Given the description of an element on the screen output the (x, y) to click on. 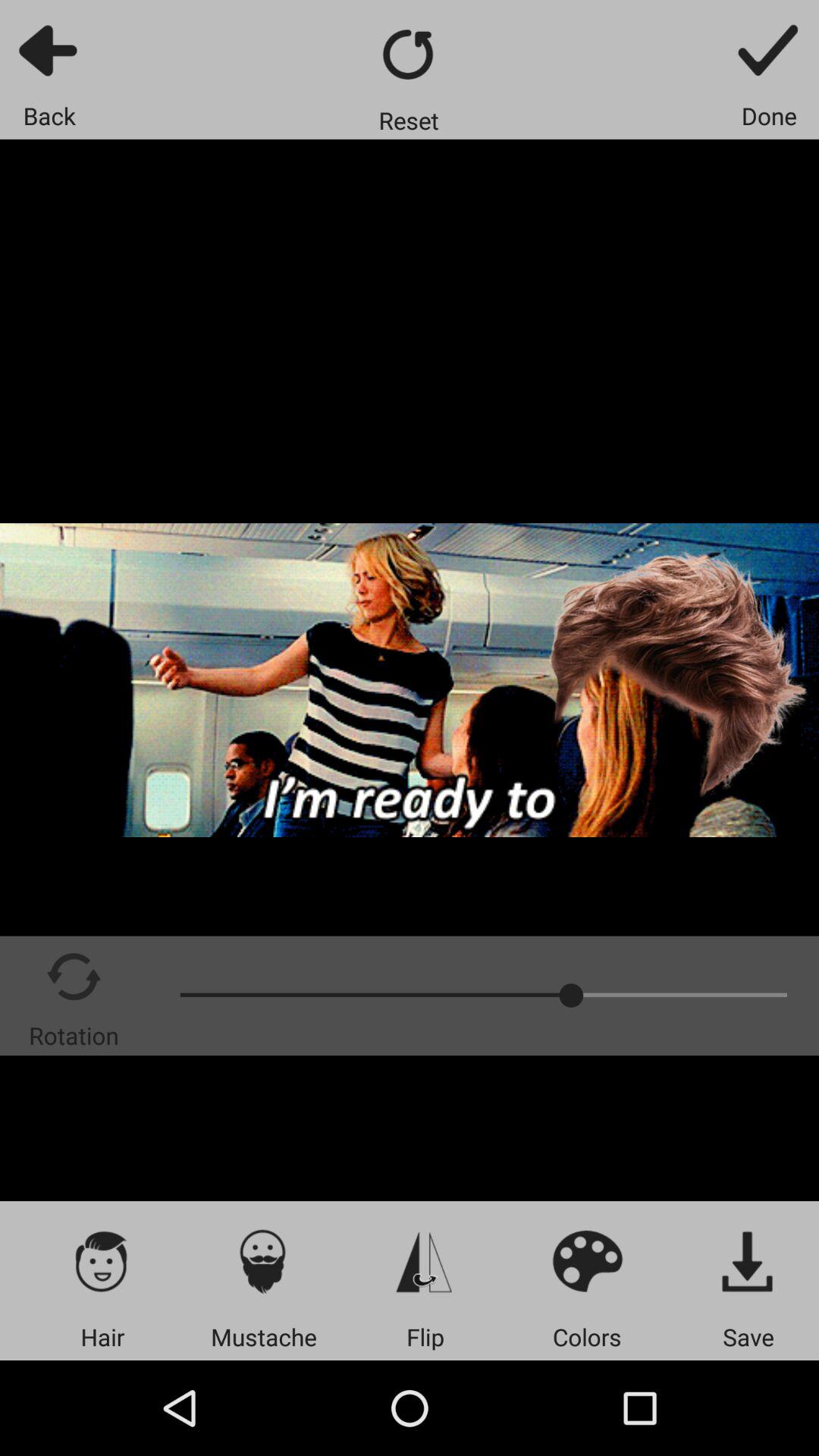
refresh (408, 54)
